Given the description of an element on the screen output the (x, y) to click on. 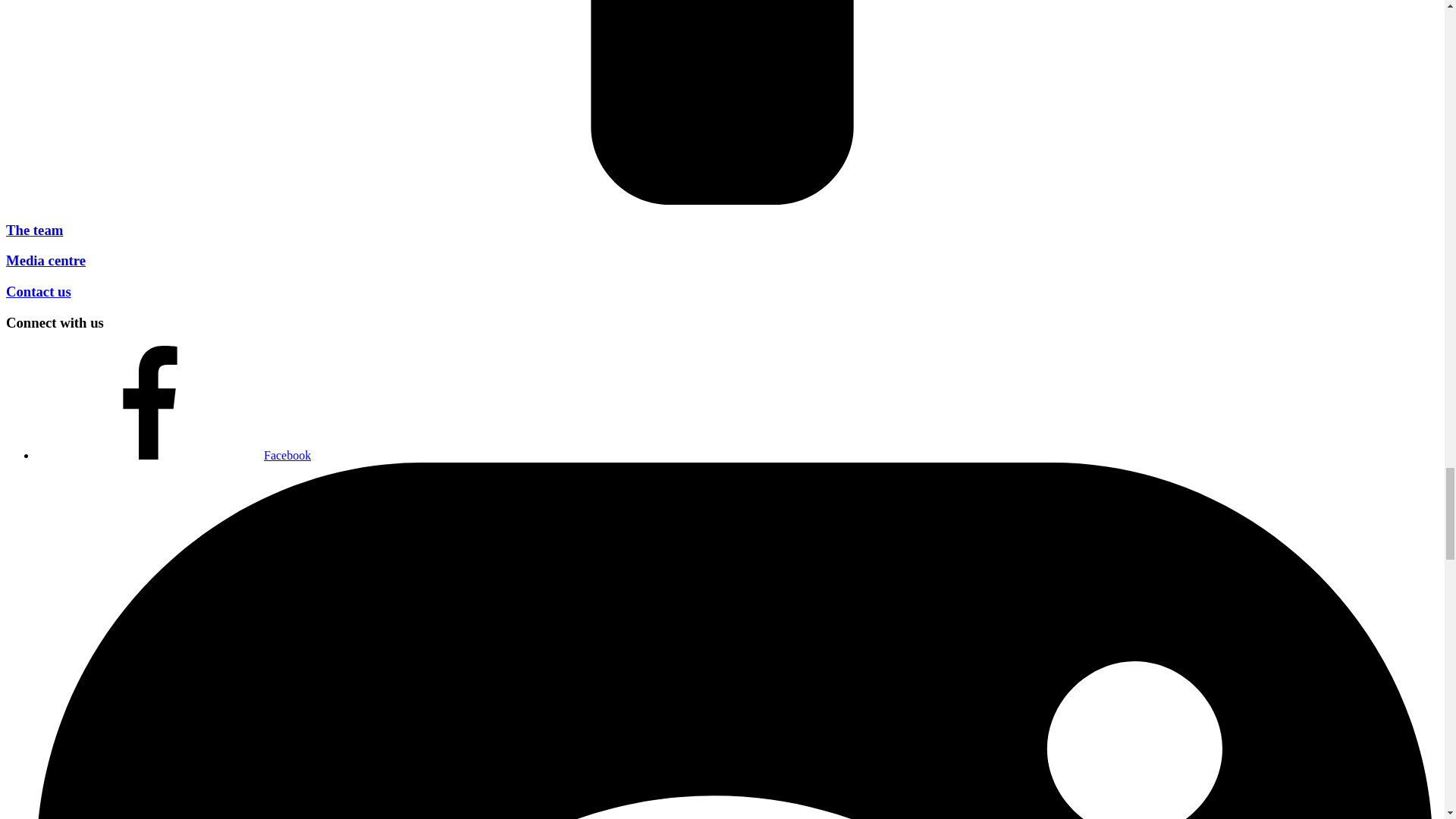
Media centre (45, 260)
Facebook (173, 454)
Contact us (38, 291)
The team (33, 229)
